Given the description of an element on the screen output the (x, y) to click on. 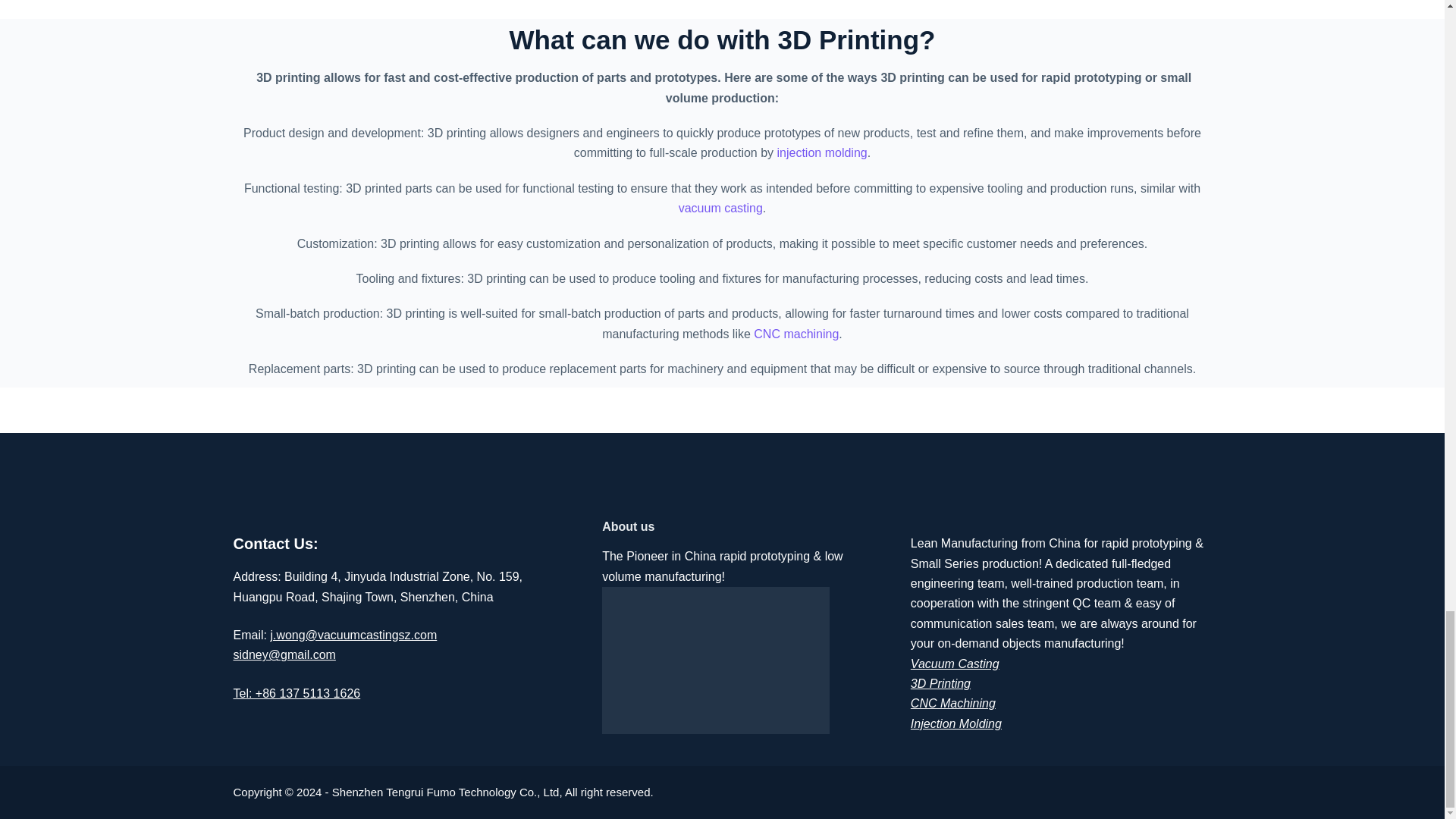
injection molding (822, 152)
Injection Molding (956, 723)
3D Printing (941, 683)
CNC machining (796, 333)
vacuum casting (720, 207)
CNC Machining (953, 703)
Vacuum Casting (954, 663)
